Given the description of an element on the screen output the (x, y) to click on. 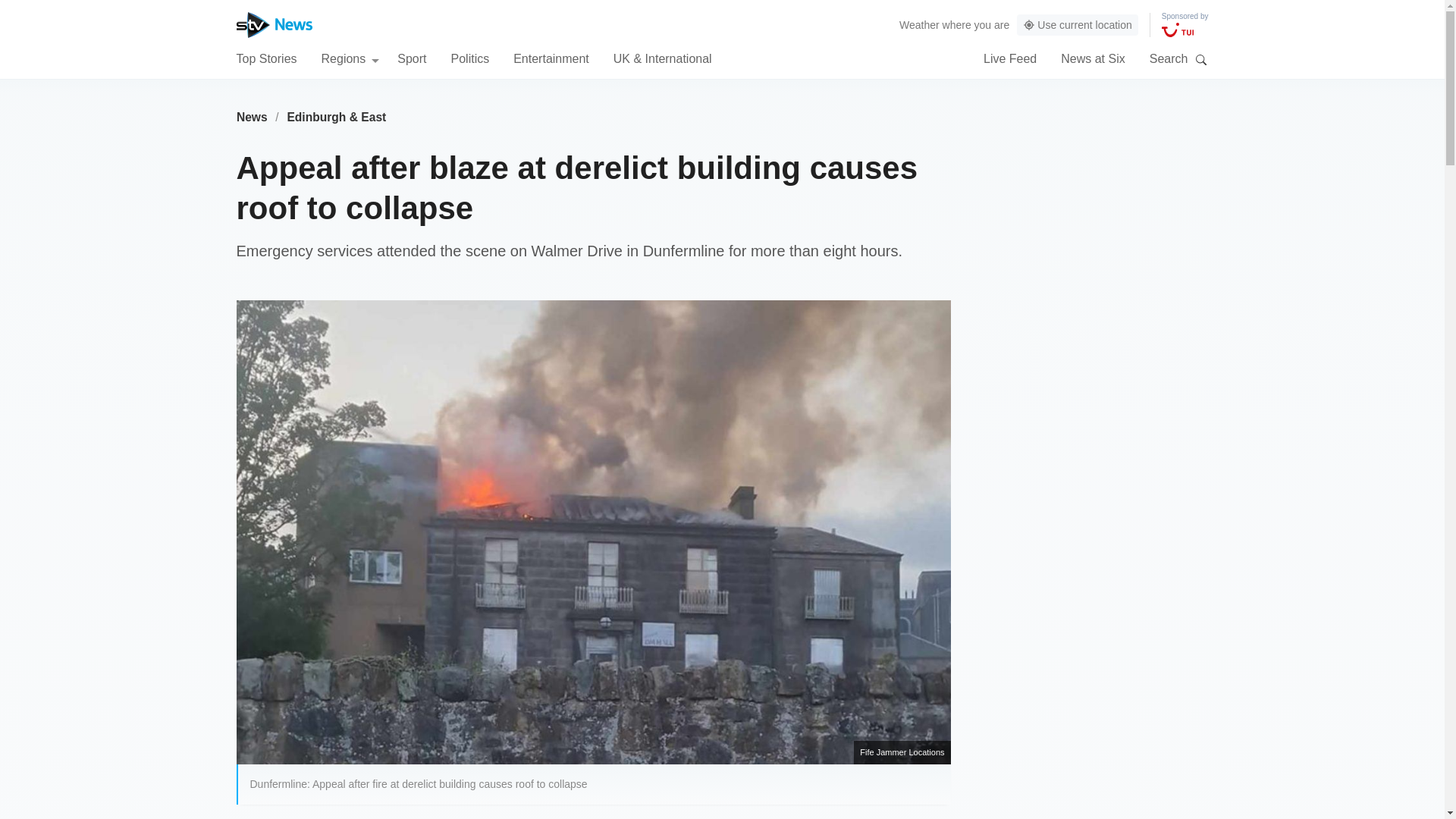
Entertainment (551, 57)
Search (1201, 59)
News at Six (1092, 57)
Regions (350, 57)
Weather (919, 24)
Top Stories (266, 57)
Live Feed (1010, 57)
Politics (469, 57)
Use current location (1077, 25)
News (252, 116)
